Given the description of an element on the screen output the (x, y) to click on. 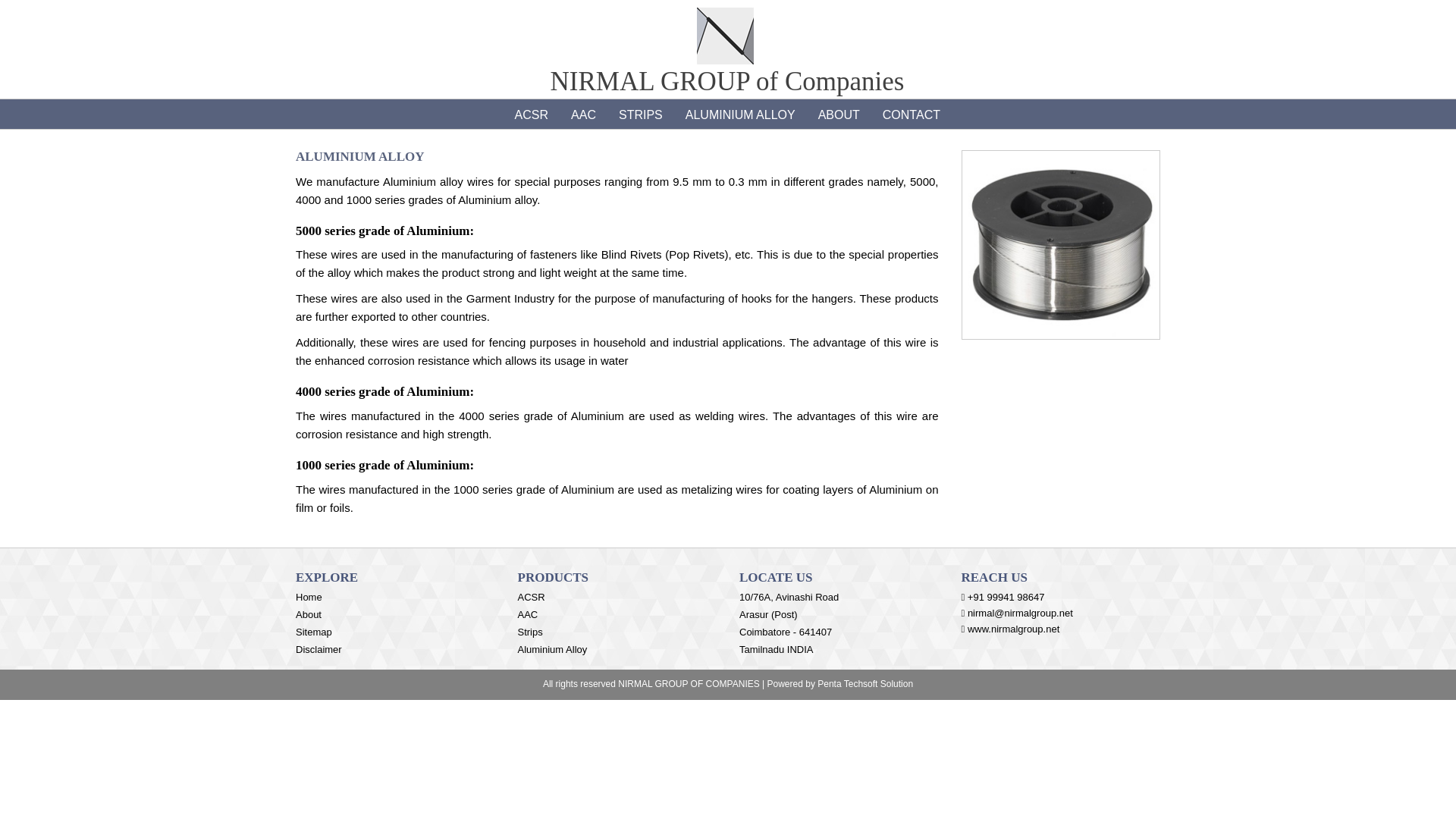
www.nirmalgroup.net (1013, 628)
Home (308, 596)
CONTACT (911, 113)
Disclaimer (318, 649)
ALUMINIUM ALLOY (740, 113)
Penta Techsoft Solution (863, 683)
AAC (526, 614)
ACSR (530, 596)
Strips (528, 632)
ACSR (531, 113)
NIRMAL GROUP of Companies (725, 49)
ABOUT (838, 113)
AAC (583, 113)
About (308, 614)
Aluminium Alloy (551, 649)
